Given the description of an element on the screen output the (x, y) to click on. 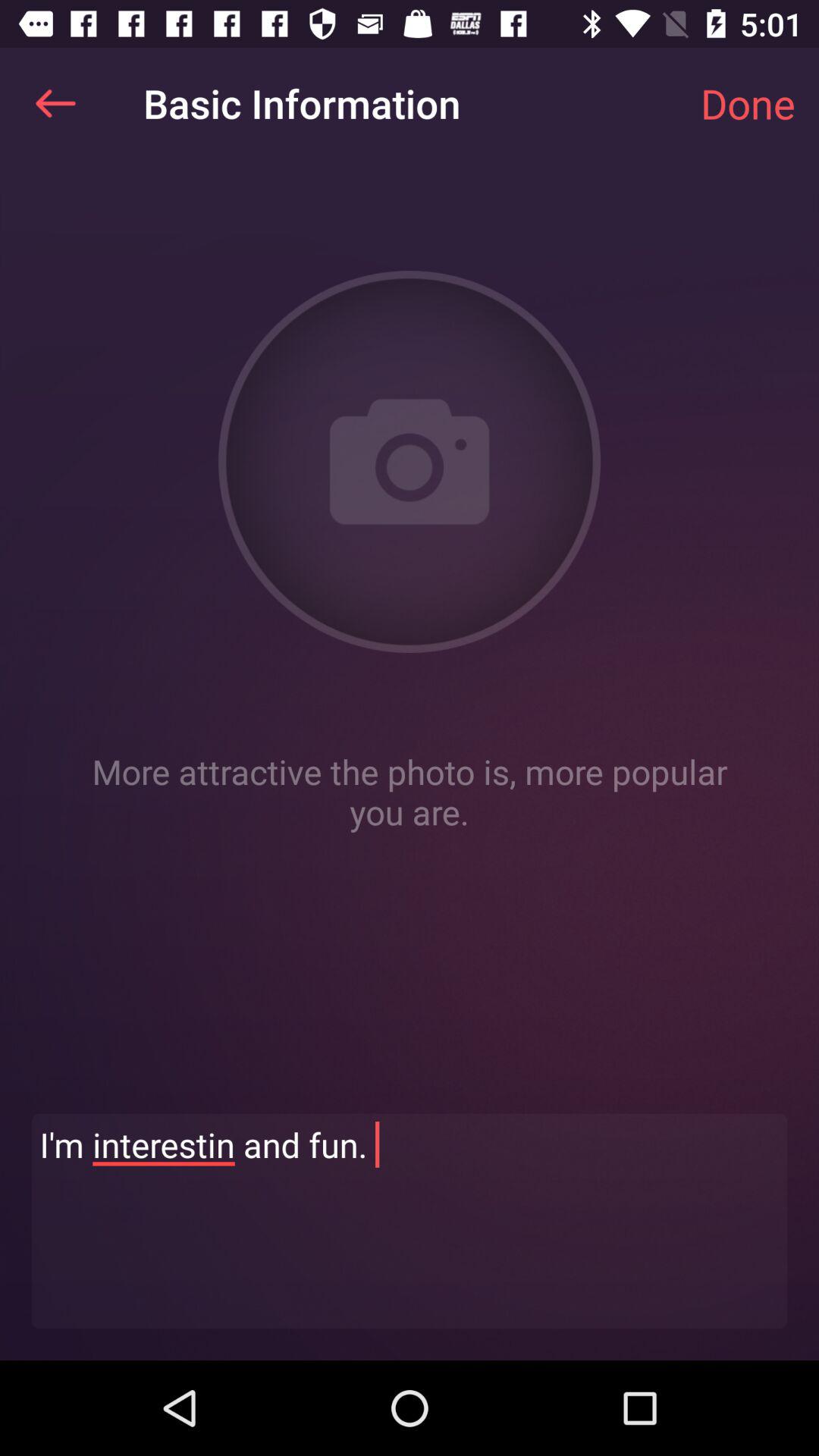
turn on the item at the top left corner (55, 103)
